Given the description of an element on the screen output the (x, y) to click on. 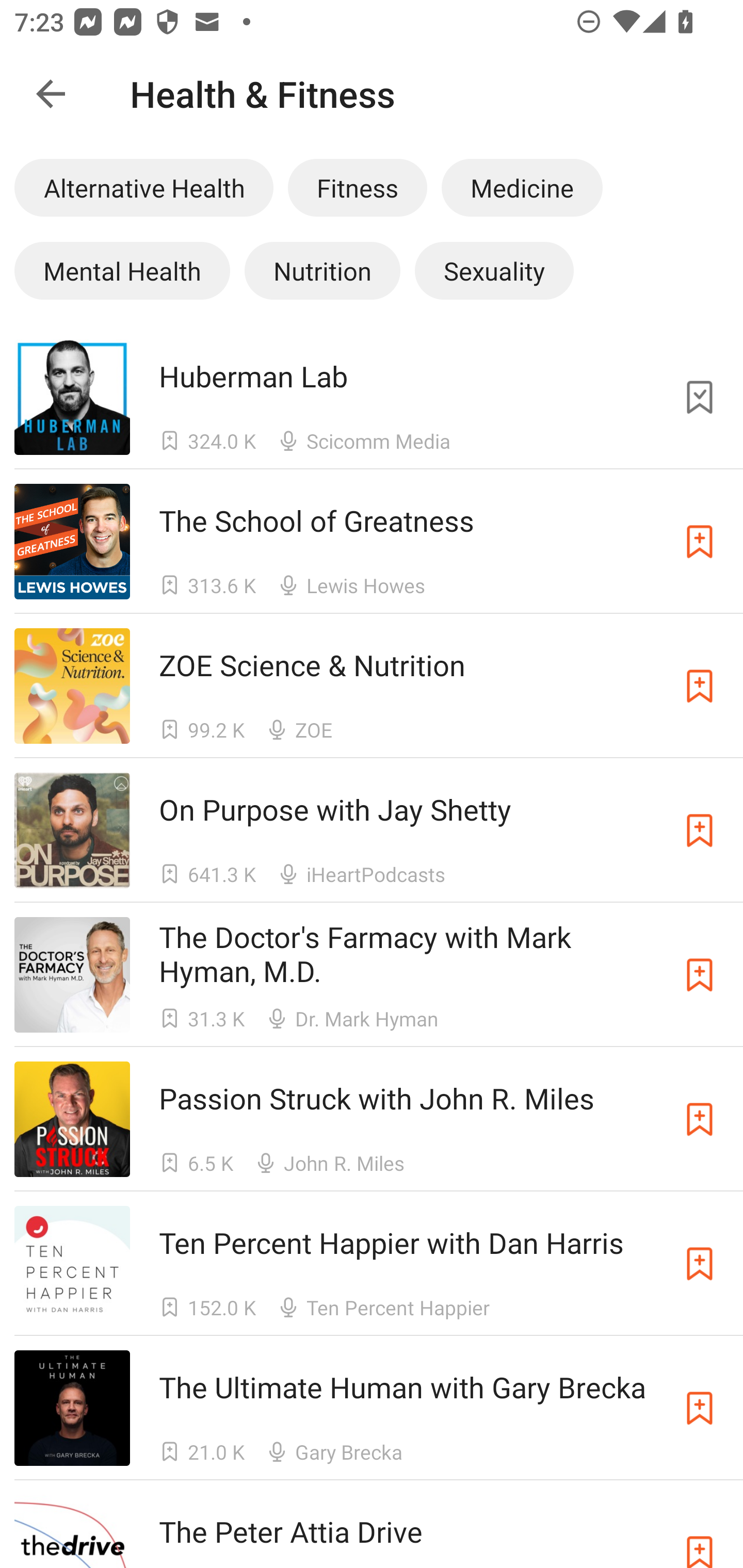
Navigate up (50, 93)
Alternative Health (143, 187)
Fitness (357, 187)
Medicine (521, 187)
Mental Health (122, 270)
Nutrition (322, 270)
Sexuality (493, 270)
Unsubscribe (699, 396)
Subscribe (699, 541)
Subscribe (699, 685)
Subscribe (699, 830)
Subscribe (699, 975)
Subscribe (699, 1119)
Subscribe (699, 1263)
Subscribe (699, 1408)
Subscribe (699, 1531)
